Given the description of an element on the screen output the (x, y) to click on. 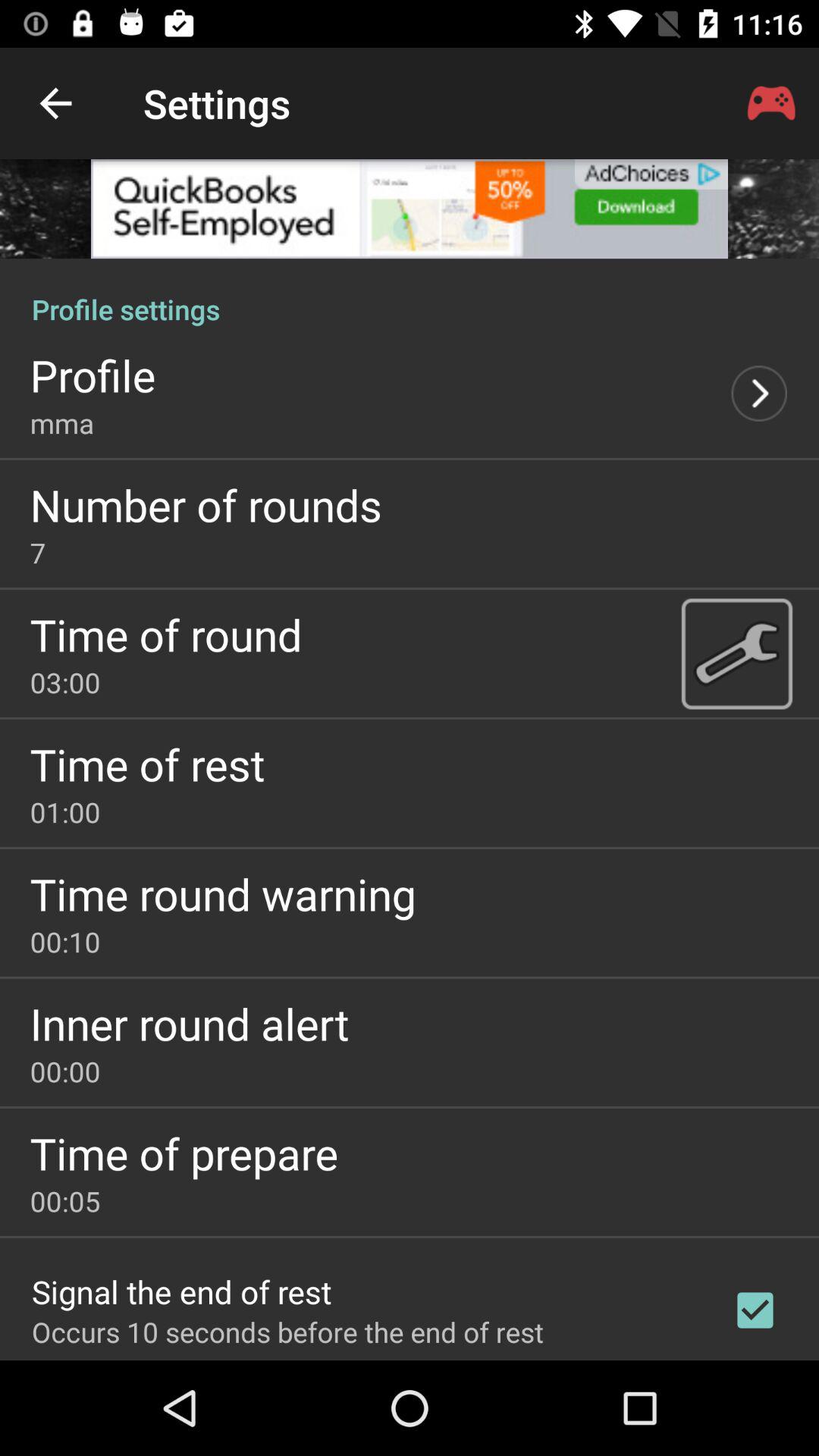
advertisement (409, 208)
